Given the description of an element on the screen output the (x, y) to click on. 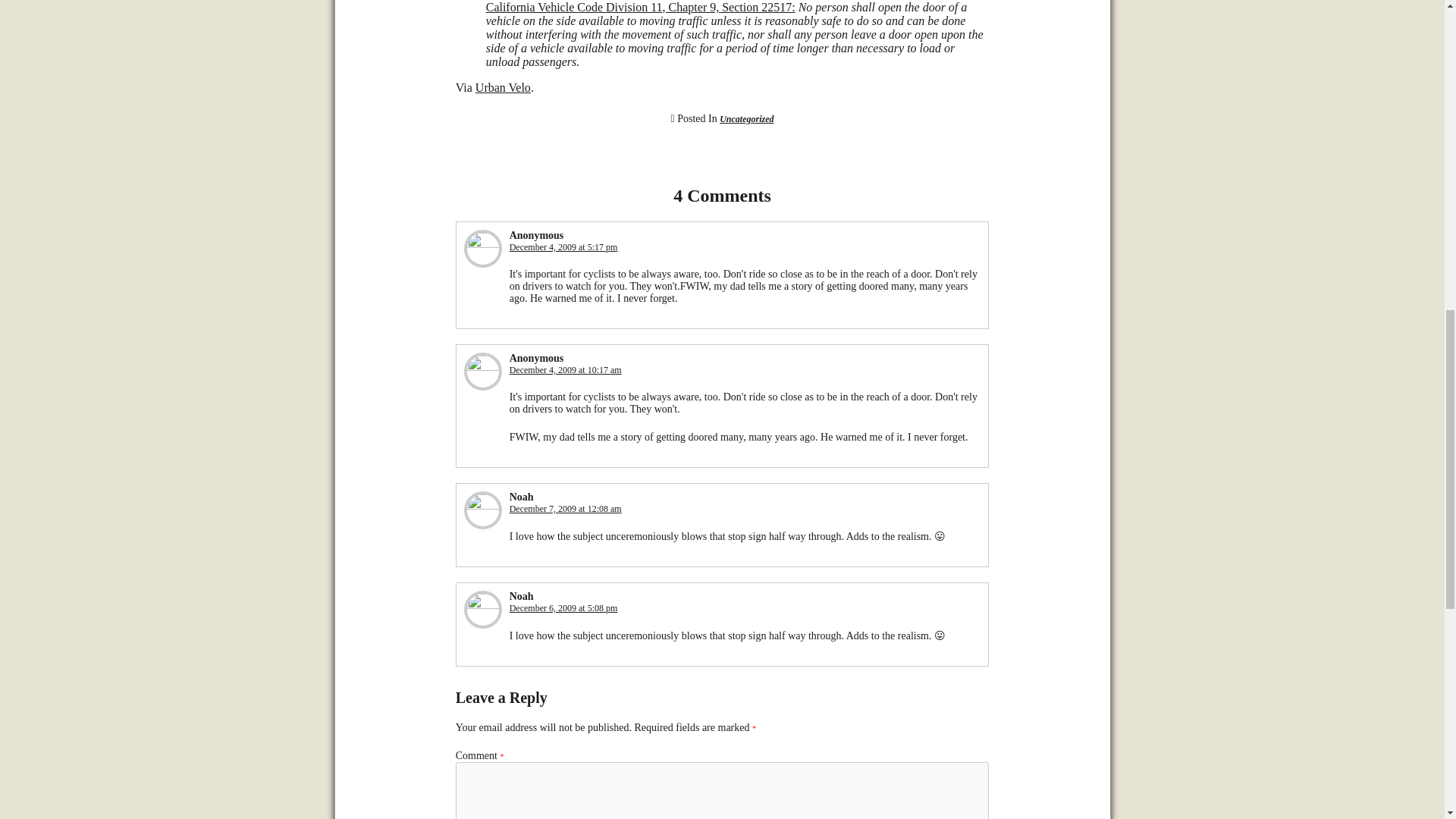
December 4, 2009 at 10:17 am (565, 369)
December 4, 2009 at 5:17 pm (563, 246)
Urban Velo (503, 87)
Uncategorized (746, 118)
December 6, 2009 at 5:08 pm (563, 607)
December 7, 2009 at 12:08 am (565, 508)
